Given the description of an element on the screen output the (x, y) to click on. 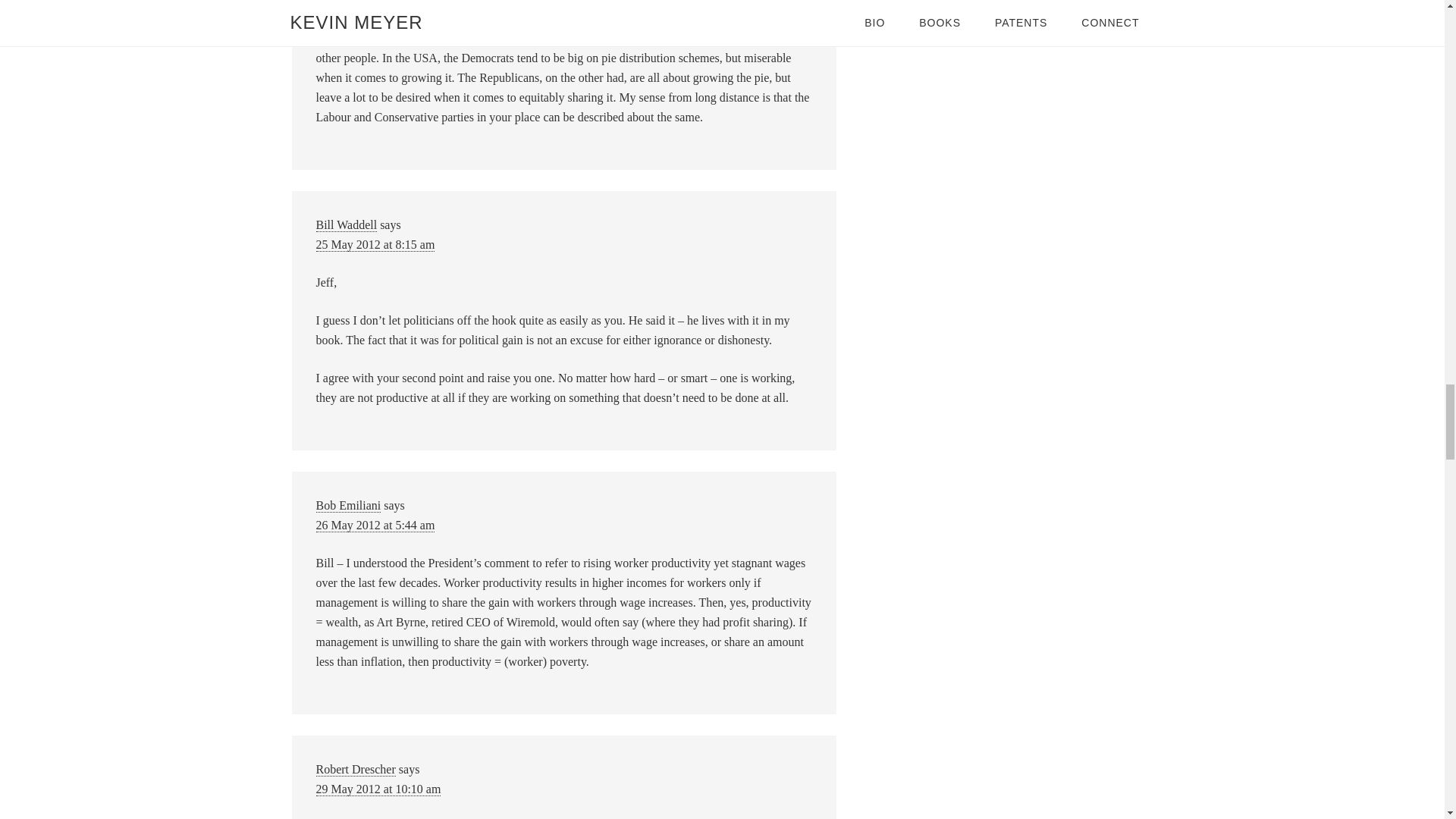
Bill Waddell (346, 224)
29 May 2012 at 10:10 am (378, 789)
26 May 2012 at 5:44 am (374, 525)
Robert Drescher (354, 769)
25 May 2012 at 8:15 am (374, 244)
Bob Emiliani (347, 505)
